Given the description of an element on the screen output the (x, y) to click on. 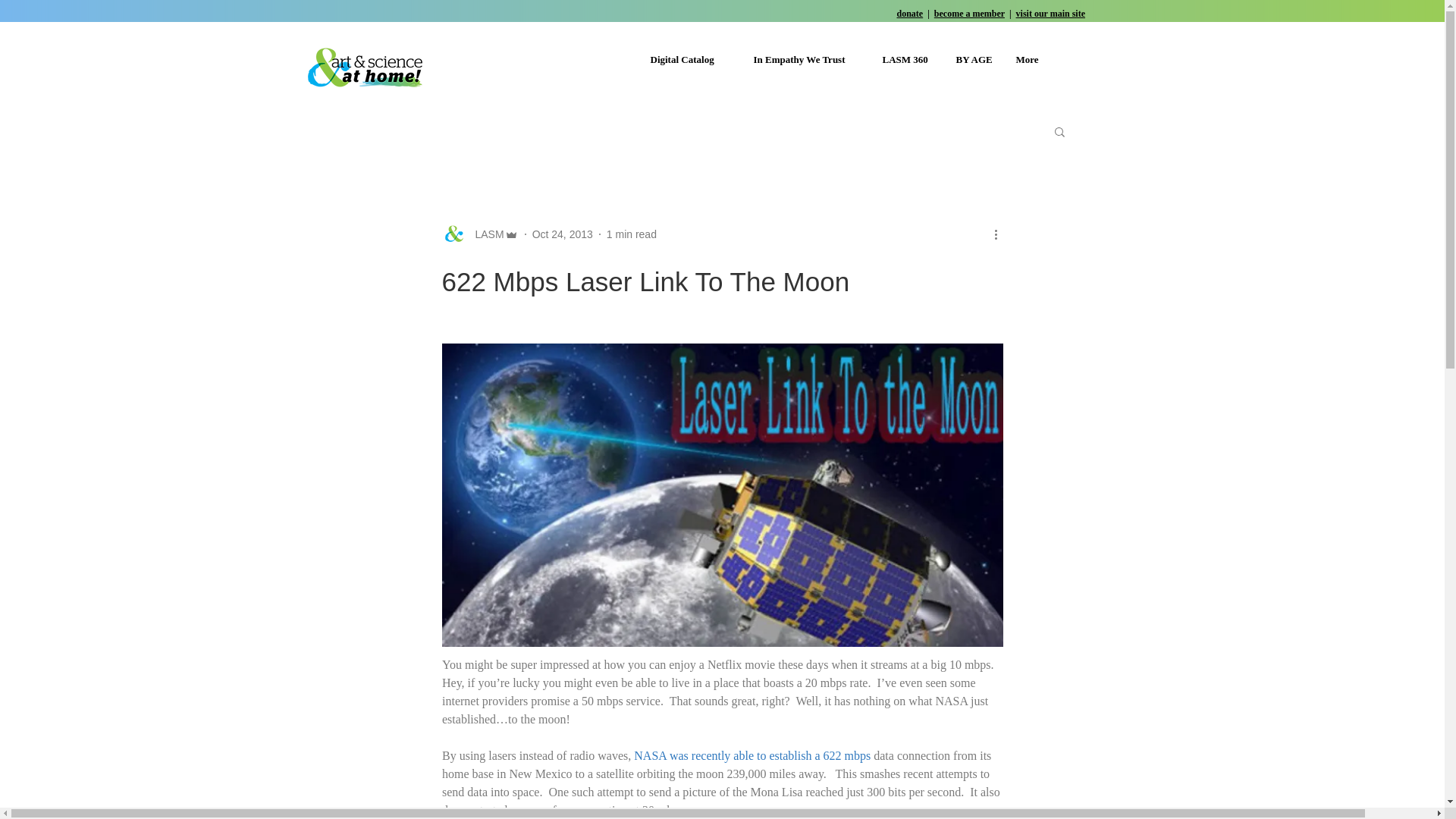
Oct 24, 2013 (562, 233)
become a member (969, 13)
NASA was recently able to establish a 622 mbps (751, 755)
visit our main site (1050, 13)
Digital Catalog (690, 59)
In Empathy We Trust (805, 59)
donate (909, 13)
LASM 360 (906, 59)
BY AGE (974, 59)
LASM (479, 233)
